Given the description of an element on the screen output the (x, y) to click on. 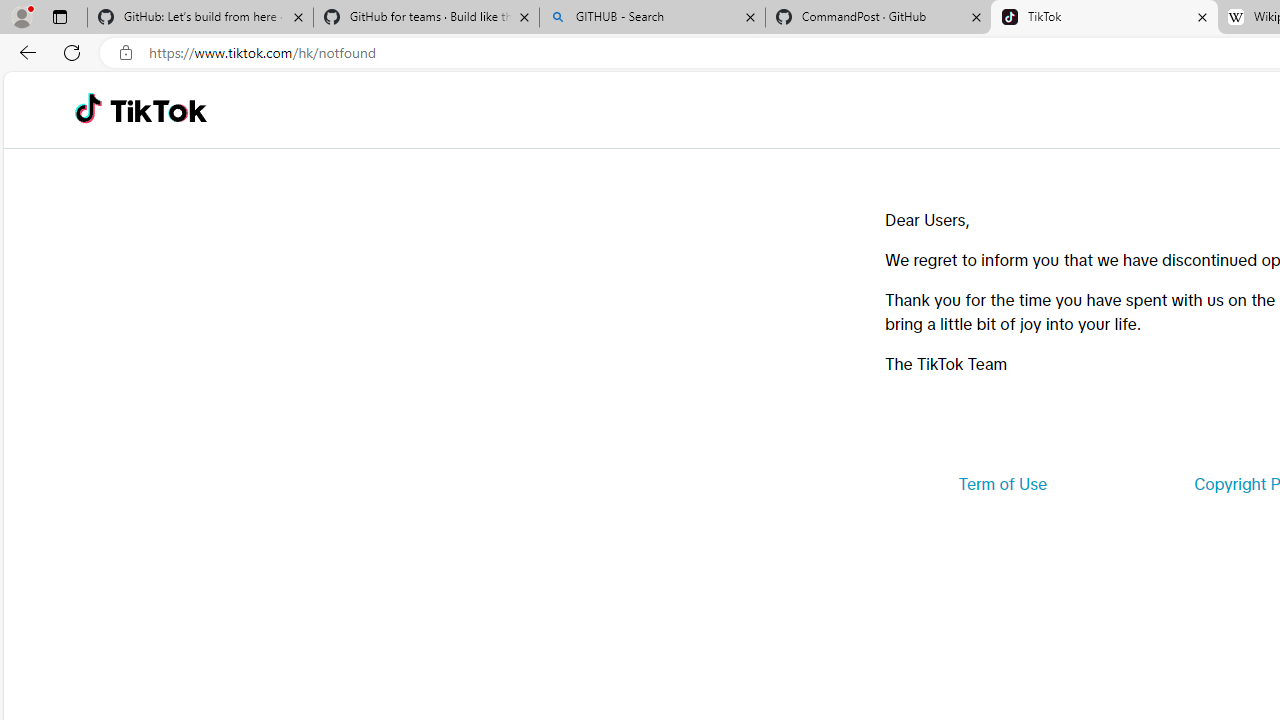
TikTok (1104, 17)
Term of Use (1002, 484)
GITHUB - Search (652, 17)
TikTok (158, 110)
